Given the description of an element on the screen output the (x, y) to click on. 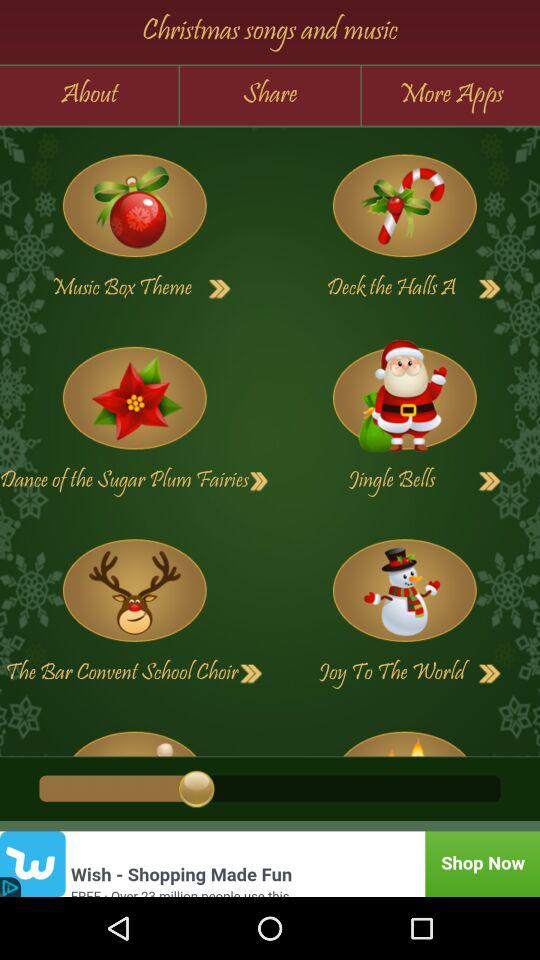
select the deck the halls song (490, 289)
